Given the description of an element on the screen output the (x, y) to click on. 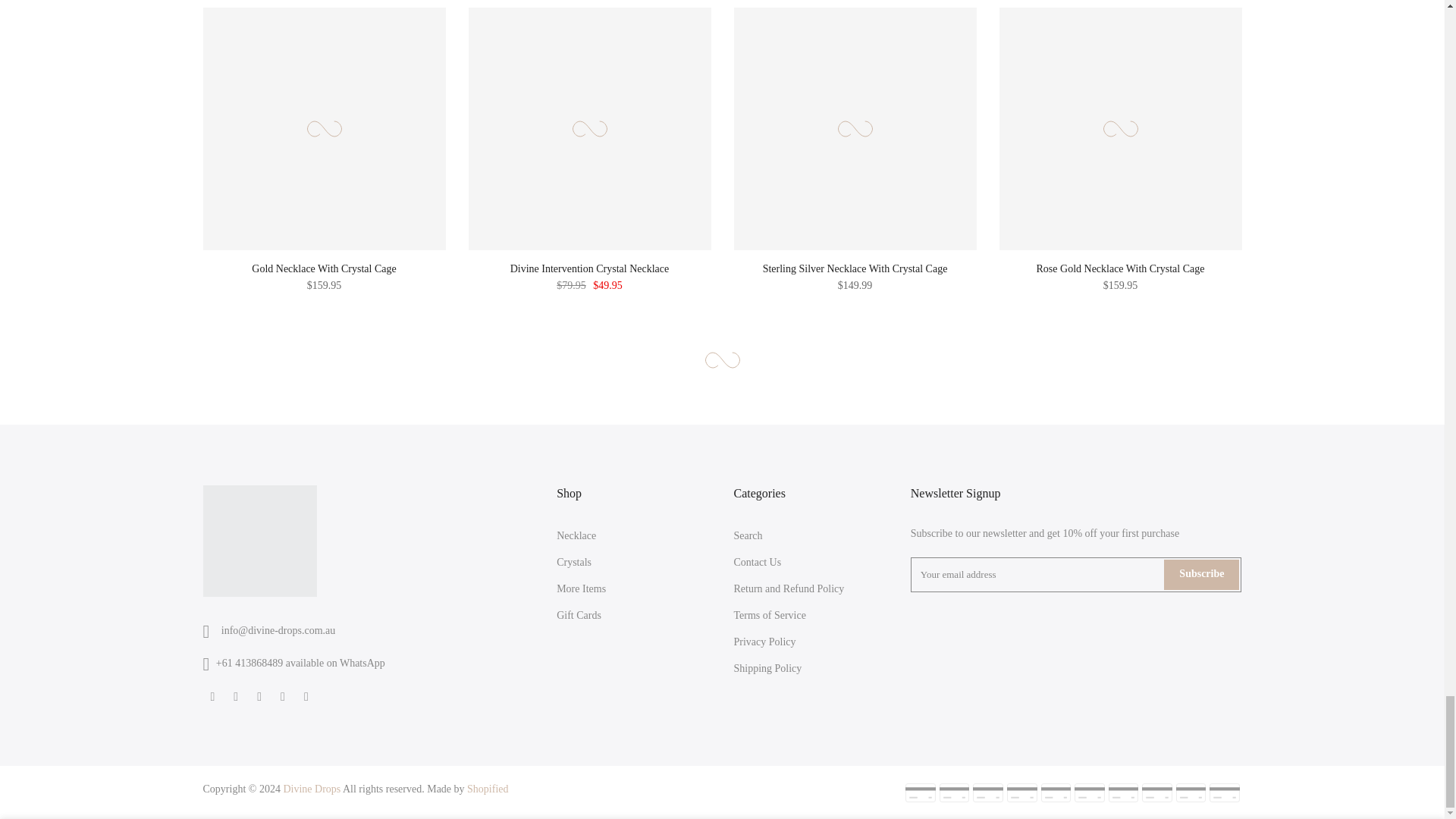
Sterling Silver Necklace With Crystal Cage (854, 268)
More Items (580, 588)
Contact Us (756, 562)
Necklace (575, 535)
Return and Refund Policy (788, 588)
Gift Cards (578, 614)
Crystals (573, 562)
Search (747, 535)
Divine Intervention Crystal Necklace (590, 268)
Gold Necklace With Crystal Cage (323, 268)
Rose Gold Necklace With Crystal Cage (1120, 268)
